Given the description of an element on the screen output the (x, y) to click on. 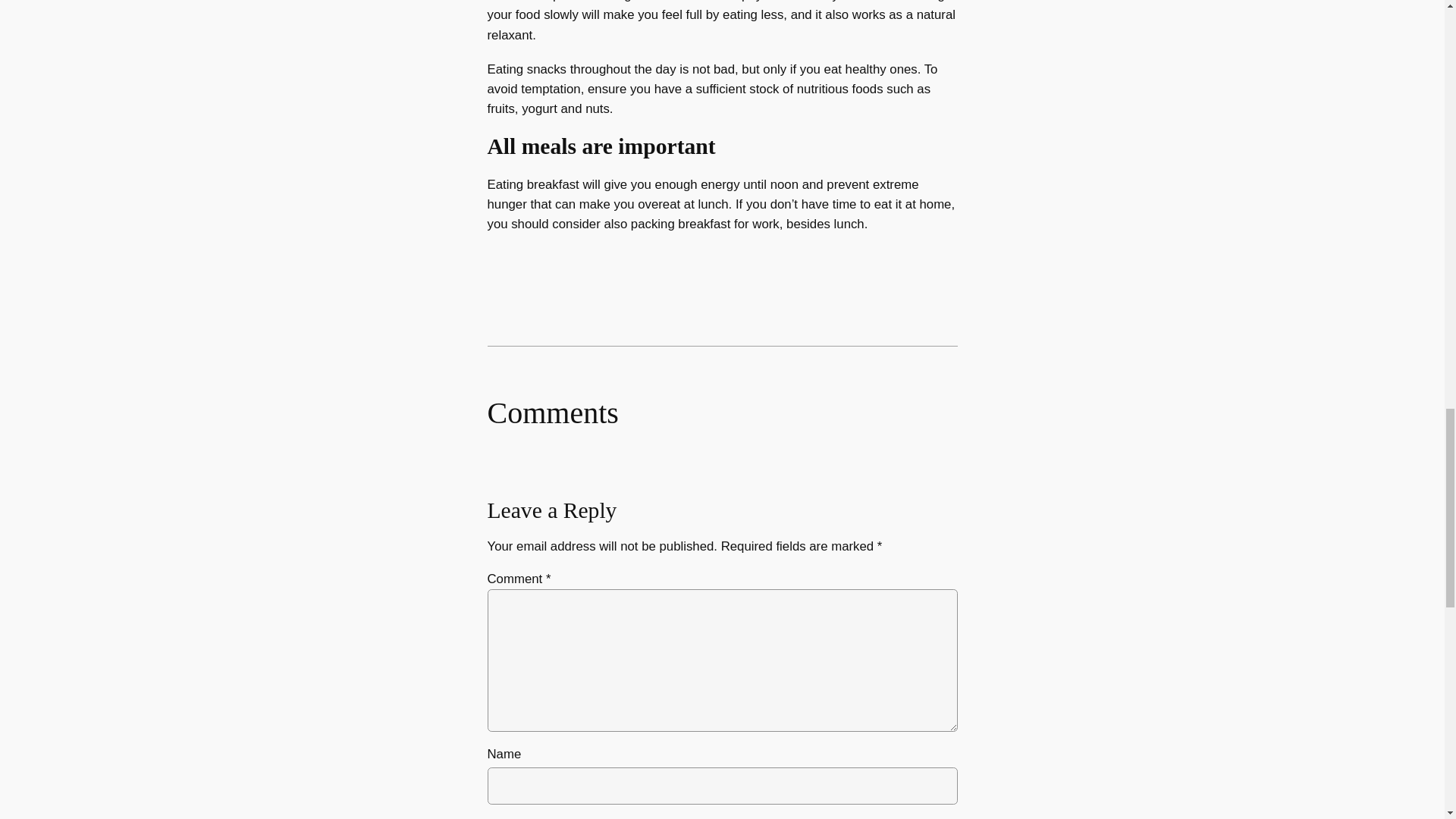
Healthy Snacks At Work (191, 47)
